Given the description of an element on the screen output the (x, y) to click on. 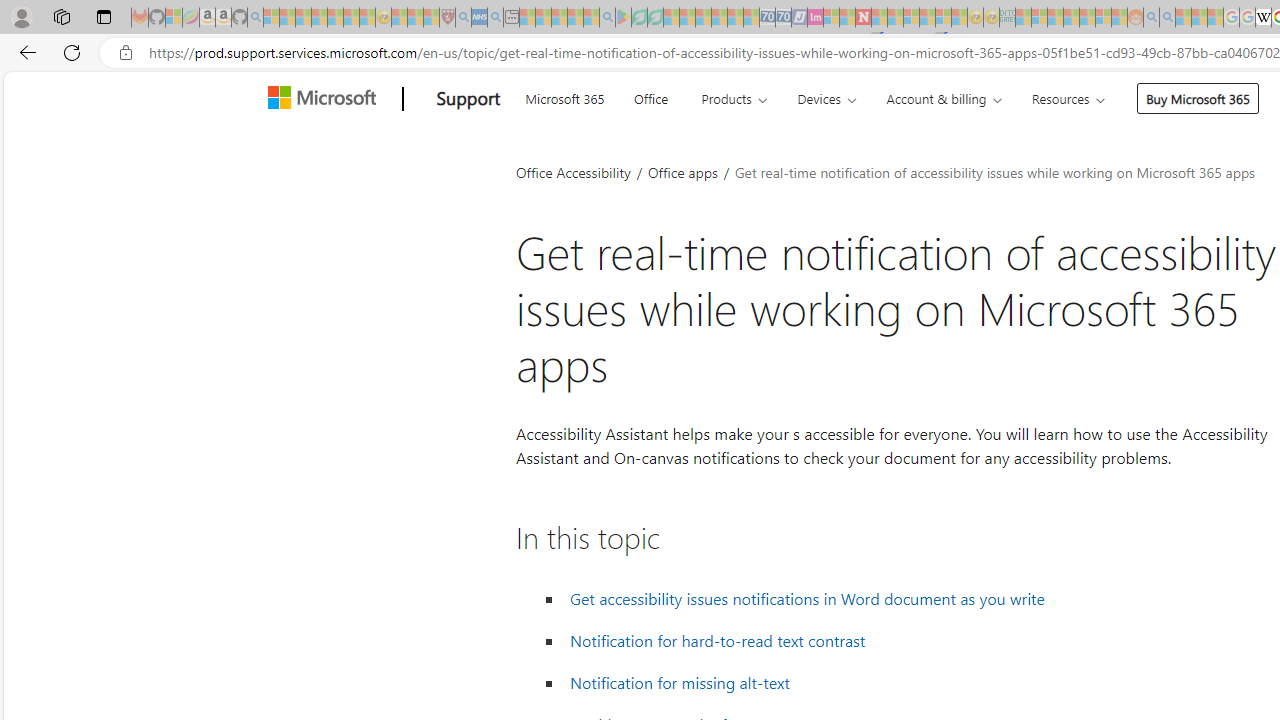
New Report Confirms 2023 Was Record Hot | Watch - Sleeping (335, 17)
 Notification for hard-to-read text contrast (717, 641)
